Given the description of an element on the screen output the (x, y) to click on. 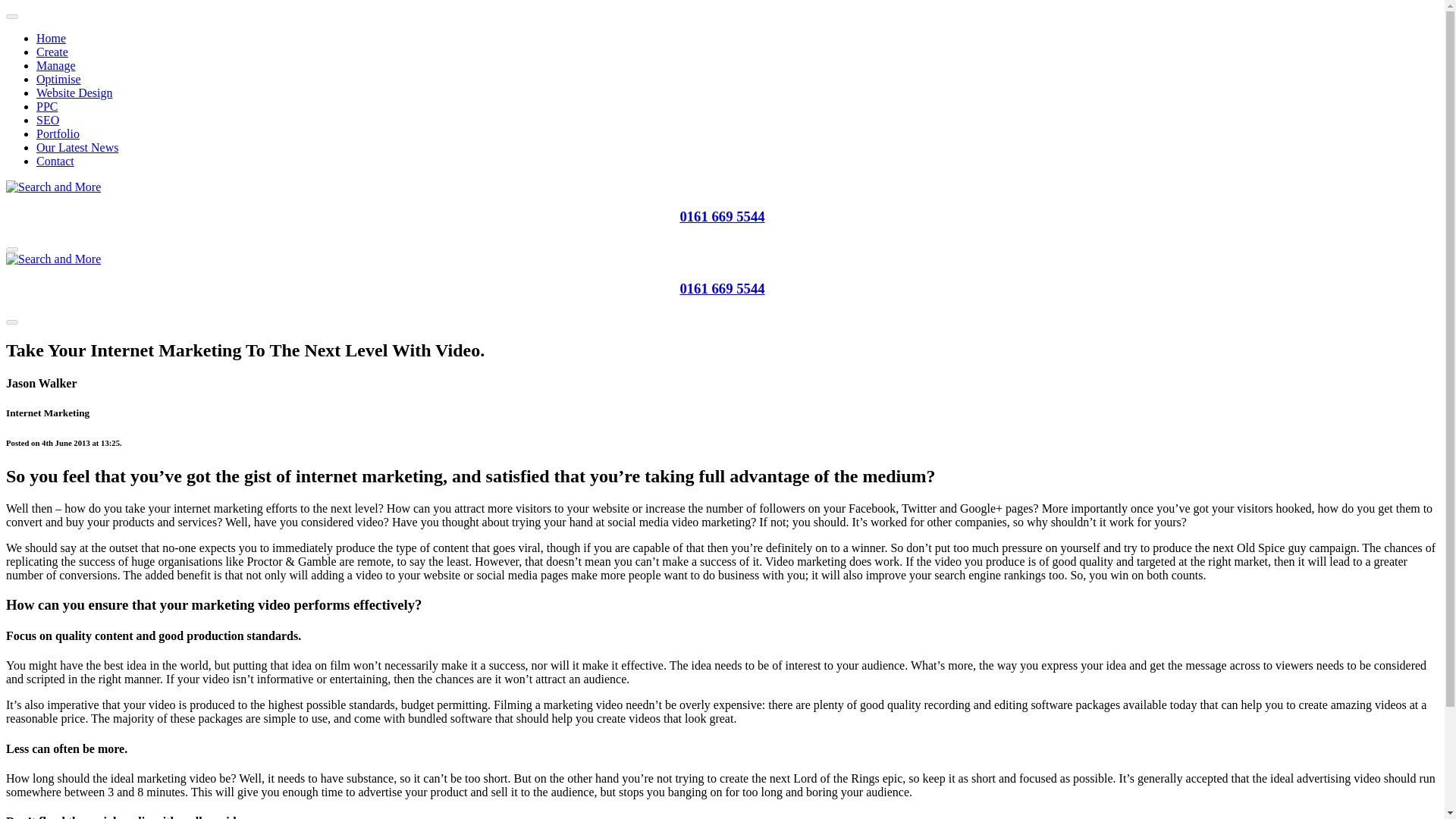
Home (50, 38)
Portfolio (58, 133)
Website Design (74, 92)
Create (52, 51)
SEO (47, 119)
SEO (47, 119)
Manage (55, 65)
Create (52, 51)
Portfolio (58, 133)
Optimise (58, 78)
0161 669 5544 (721, 288)
Contact (55, 160)
Website Design (74, 92)
Contact (55, 160)
PPC (47, 106)
